Given the description of an element on the screen output the (x, y) to click on. 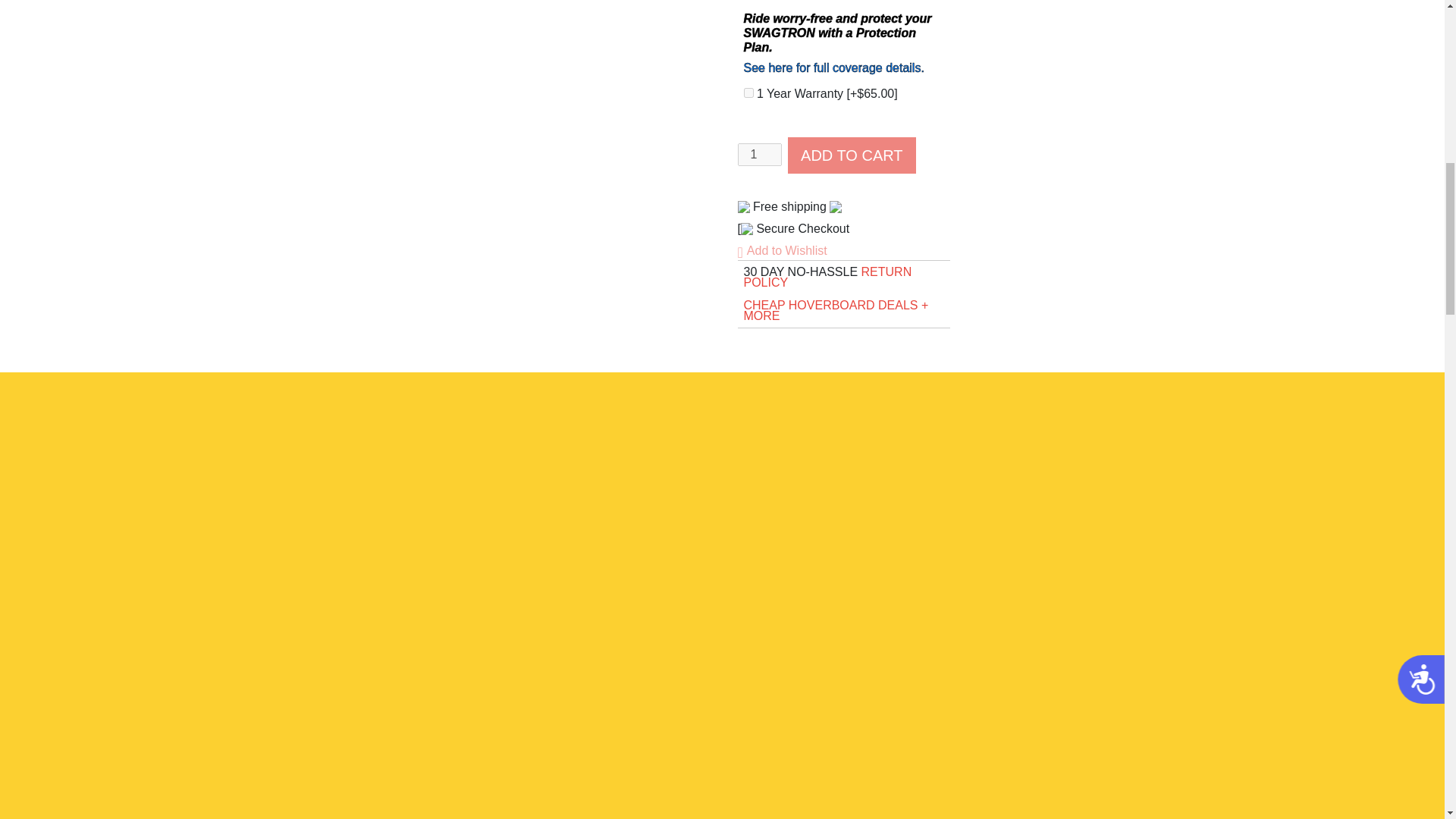
1 Year Warranty (747, 92)
1 (758, 154)
Qty (758, 154)
